Given the description of an element on the screen output the (x, y) to click on. 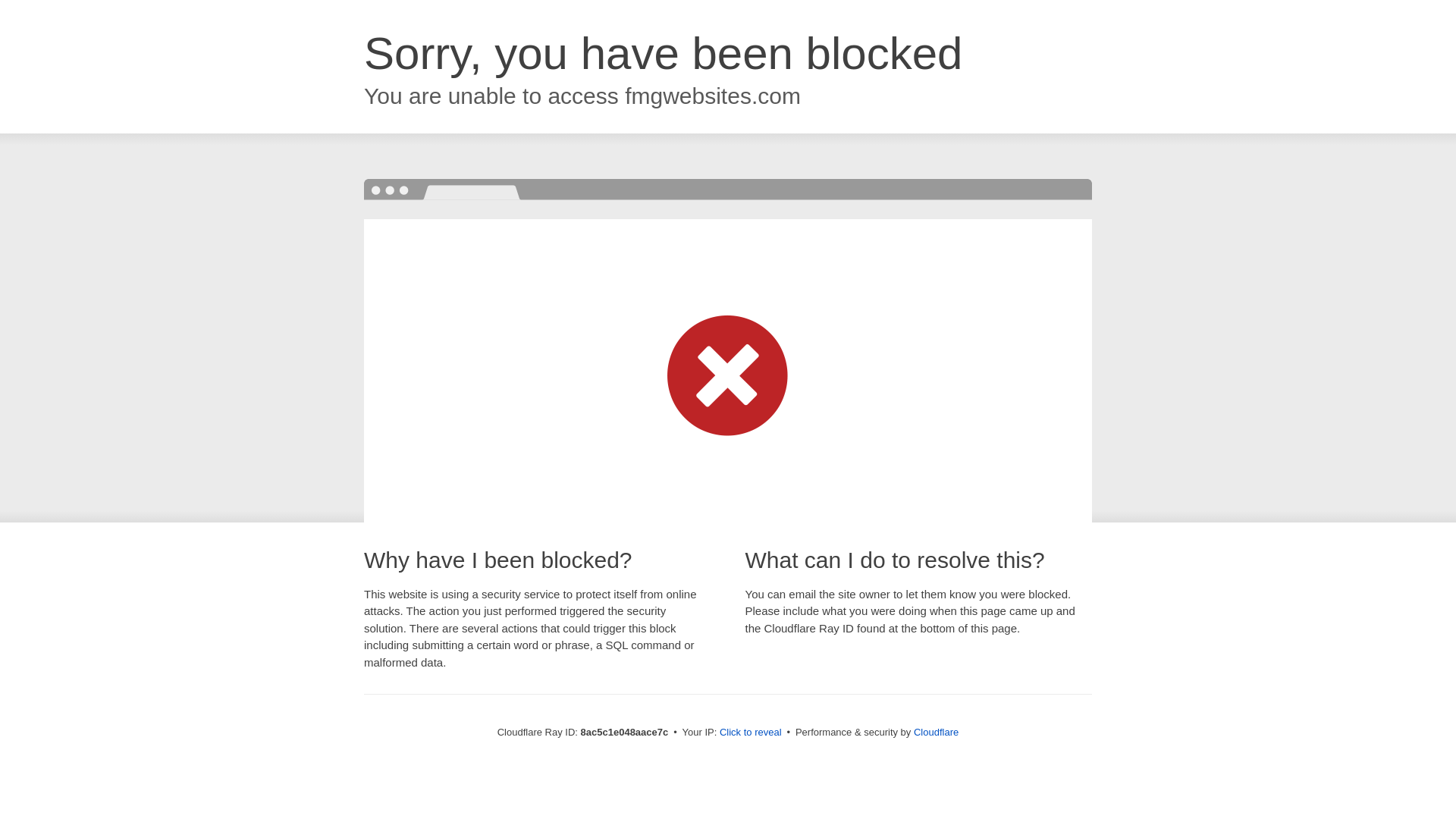
Click to reveal (750, 732)
Cloudflare (936, 731)
